Given the description of an element on the screen output the (x, y) to click on. 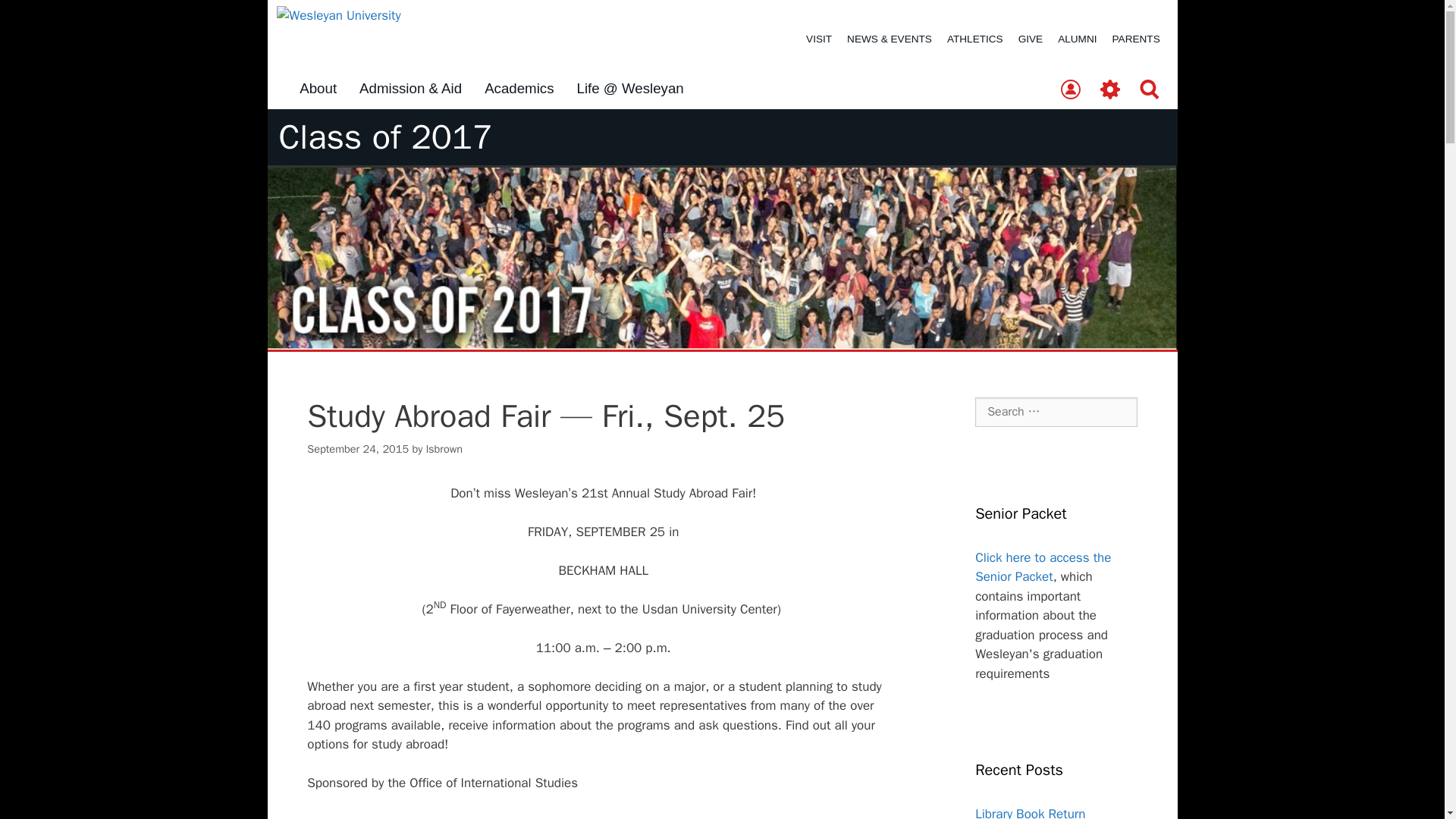
About (317, 89)
Academics (518, 89)
GIVE (1029, 39)
PARENTS (1136, 39)
Directory (1069, 90)
VISIT (818, 39)
Search for: (1056, 411)
ALUMNI (1076, 39)
Tools (1109, 90)
Class of 2017 (386, 137)
Click here to access the Senior Packet (1042, 567)
Search (35, 18)
lsbrown (444, 448)
View all posts by lsbrown (444, 448)
Search (1149, 90)
